Given the description of an element on the screen output the (x, y) to click on. 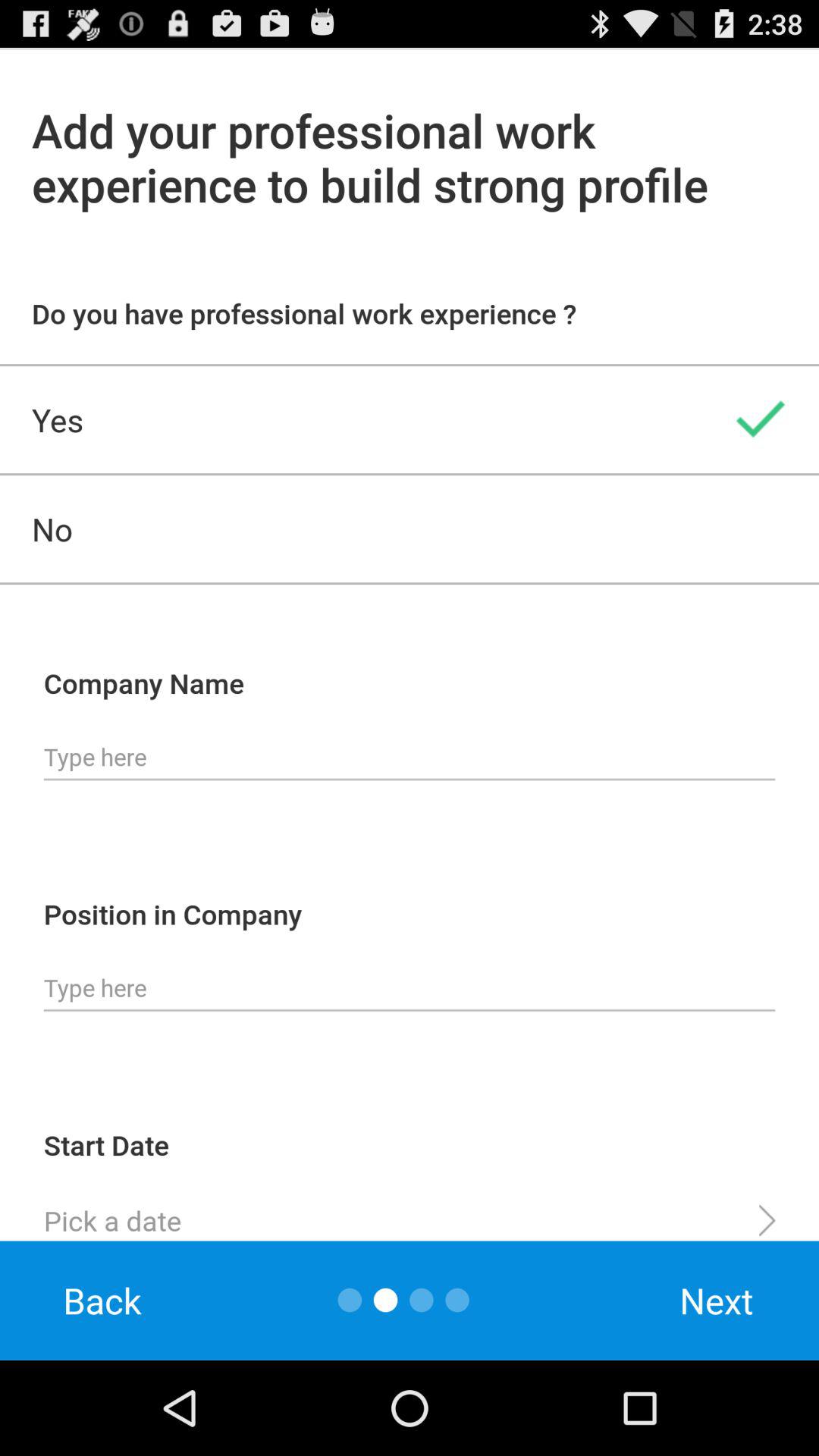
select a date (409, 1214)
